Given the description of an element on the screen output the (x, y) to click on. 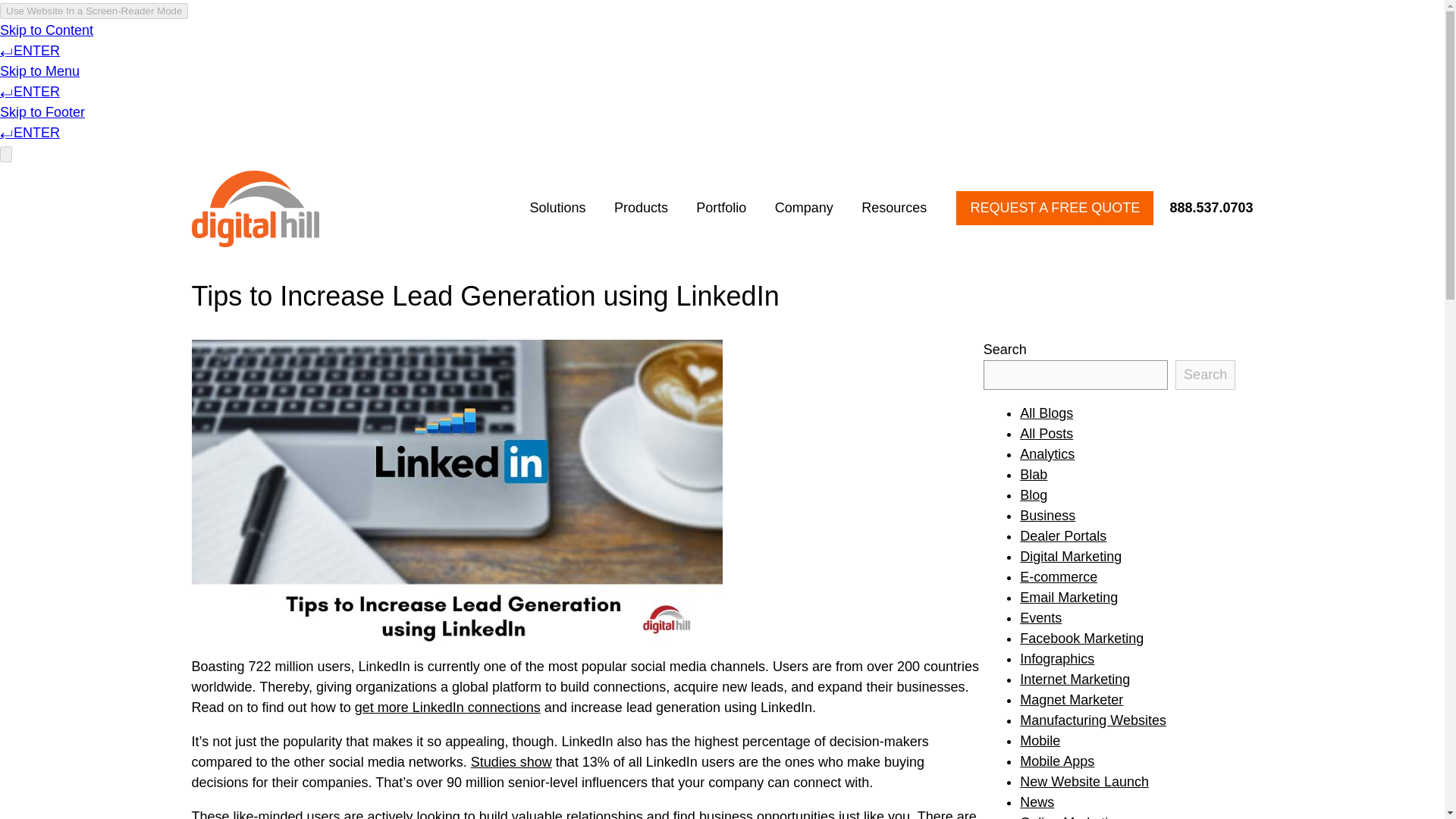
Facebook Marketing (1081, 638)
REQUEST A FREE QUOTE (1054, 207)
All Blogs (1046, 412)
Analytics (1047, 453)
Digital Marketing (1070, 556)
Internet Marketing (1074, 679)
Infographics (1057, 658)
Email Marketing (1069, 597)
Events (1040, 617)
Blog (1033, 494)
